Given the description of an element on the screen output the (x, y) to click on. 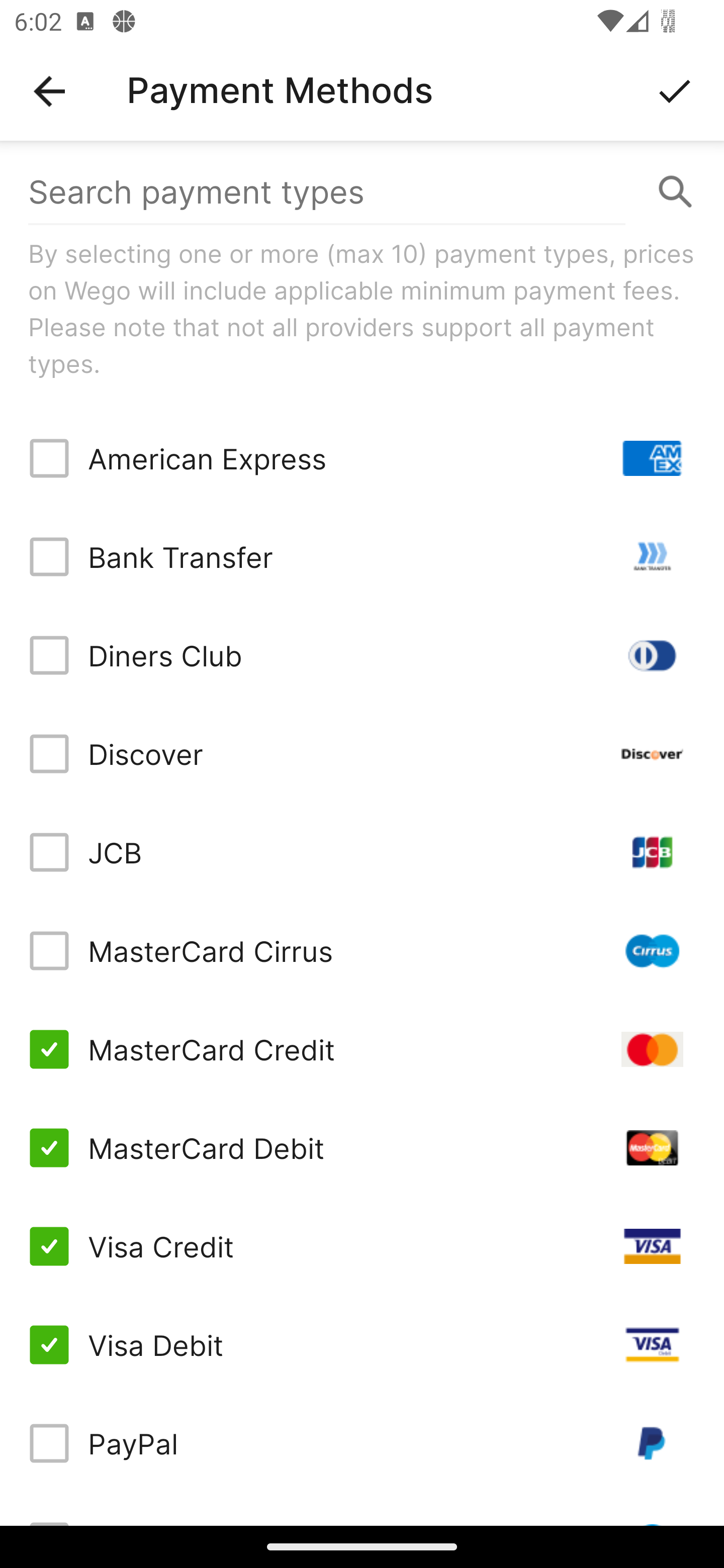
Search payment types  (361, 191)
American Express (362, 458)
Bank Transfer (362, 557)
Diners Club (362, 655)
Discover (362, 753)
JCB (362, 851)
MasterCard Cirrus (362, 950)
MasterCard Credit (362, 1049)
MasterCard Debit (362, 1147)
Visa Credit (362, 1245)
Visa Debit (362, 1344)
PayPal (362, 1442)
